Given the description of an element on the screen output the (x, y) to click on. 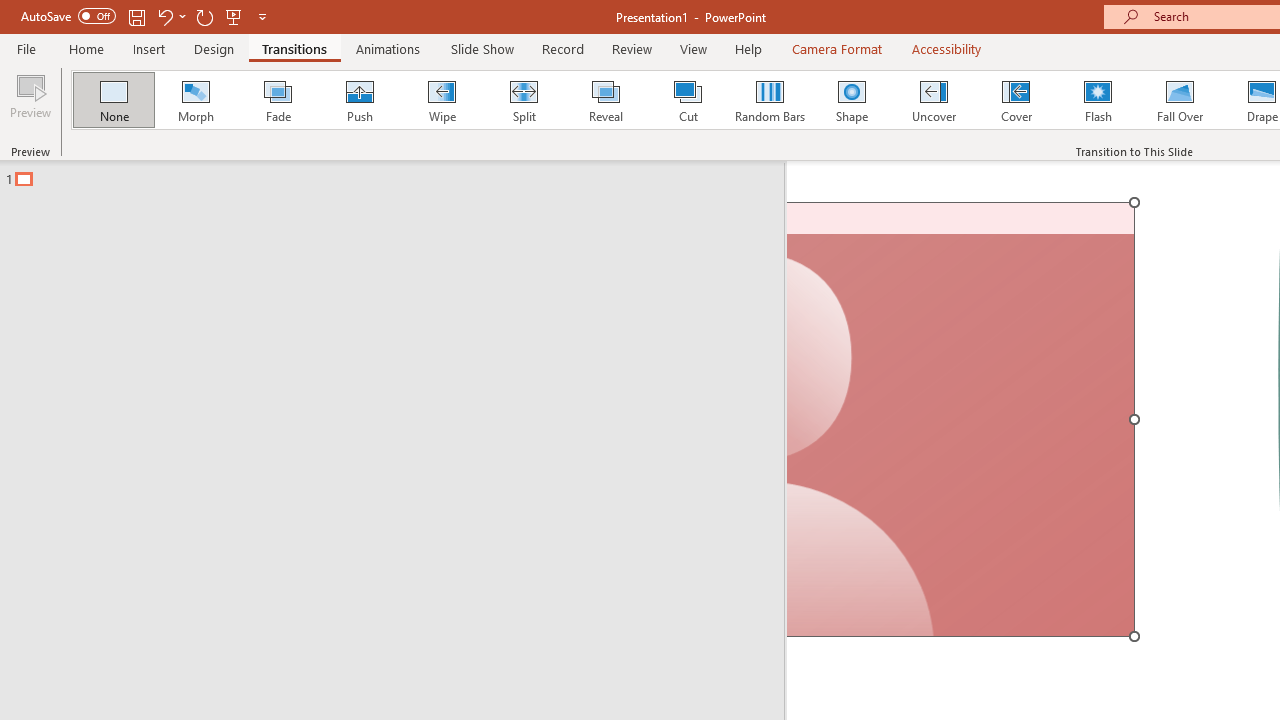
Cut (687, 100)
Preview (30, 102)
Flash (1098, 100)
Camera Format (836, 48)
Shape (852, 100)
Cover (1016, 100)
